Given the description of an element on the screen output the (x, y) to click on. 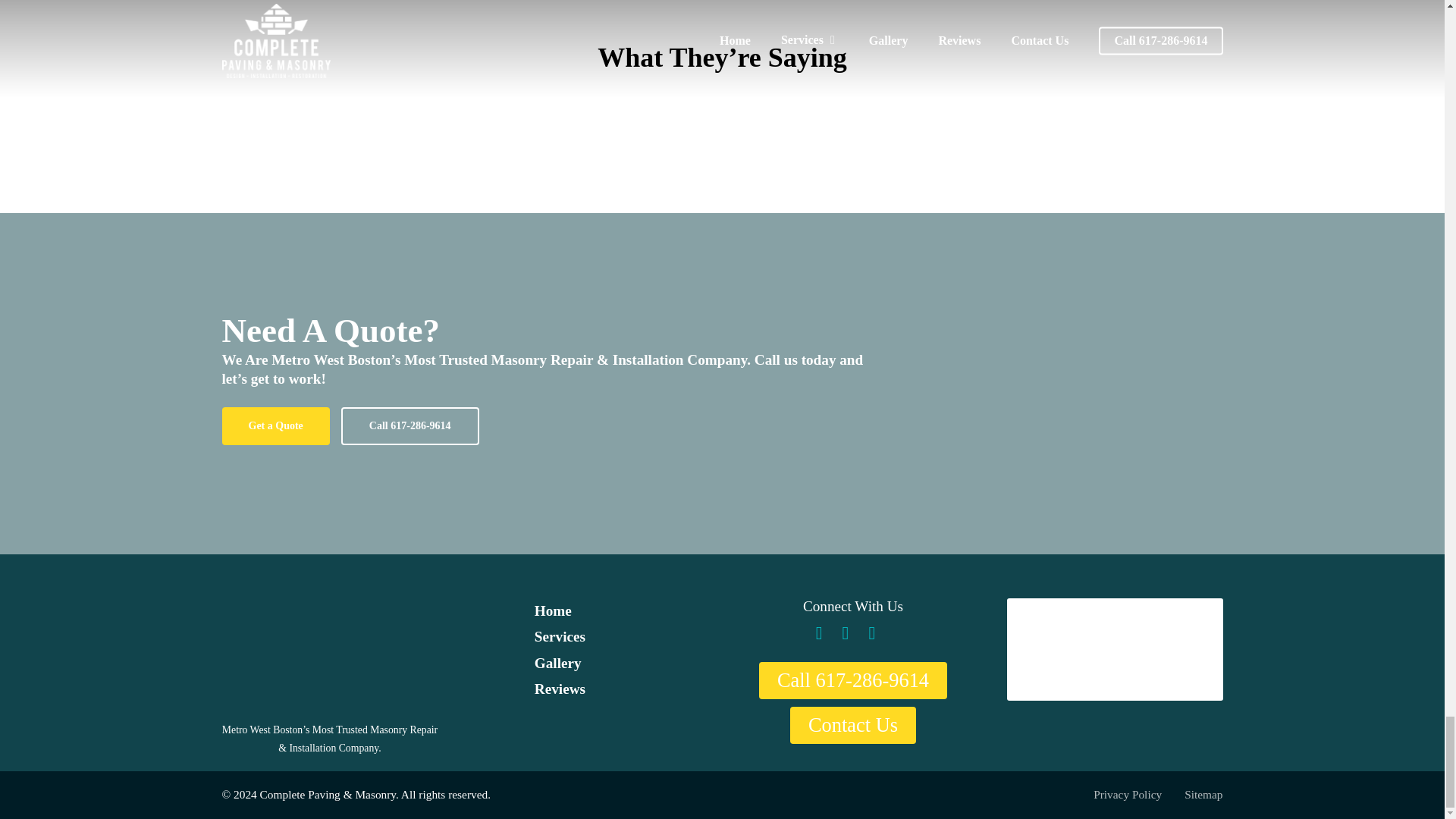
Call 617-286-9614 (409, 426)
Services (559, 636)
Gallery (557, 662)
Get a Quote (275, 426)
Home (553, 610)
